Given the description of an element on the screen output the (x, y) to click on. 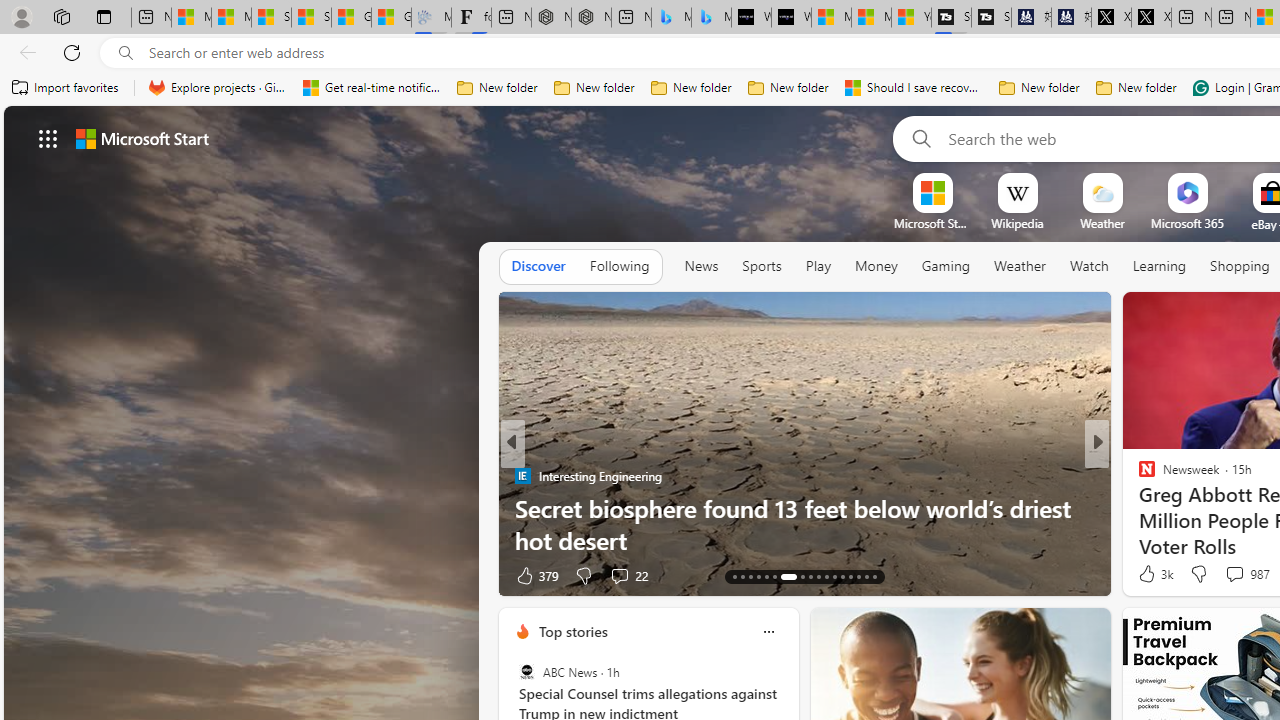
AutomationID: tab-24 (833, 576)
View comments 156 Comment (11, 575)
Newsweek (1138, 475)
69 Like (1149, 574)
